Given the description of an element on the screen output the (x, y) to click on. 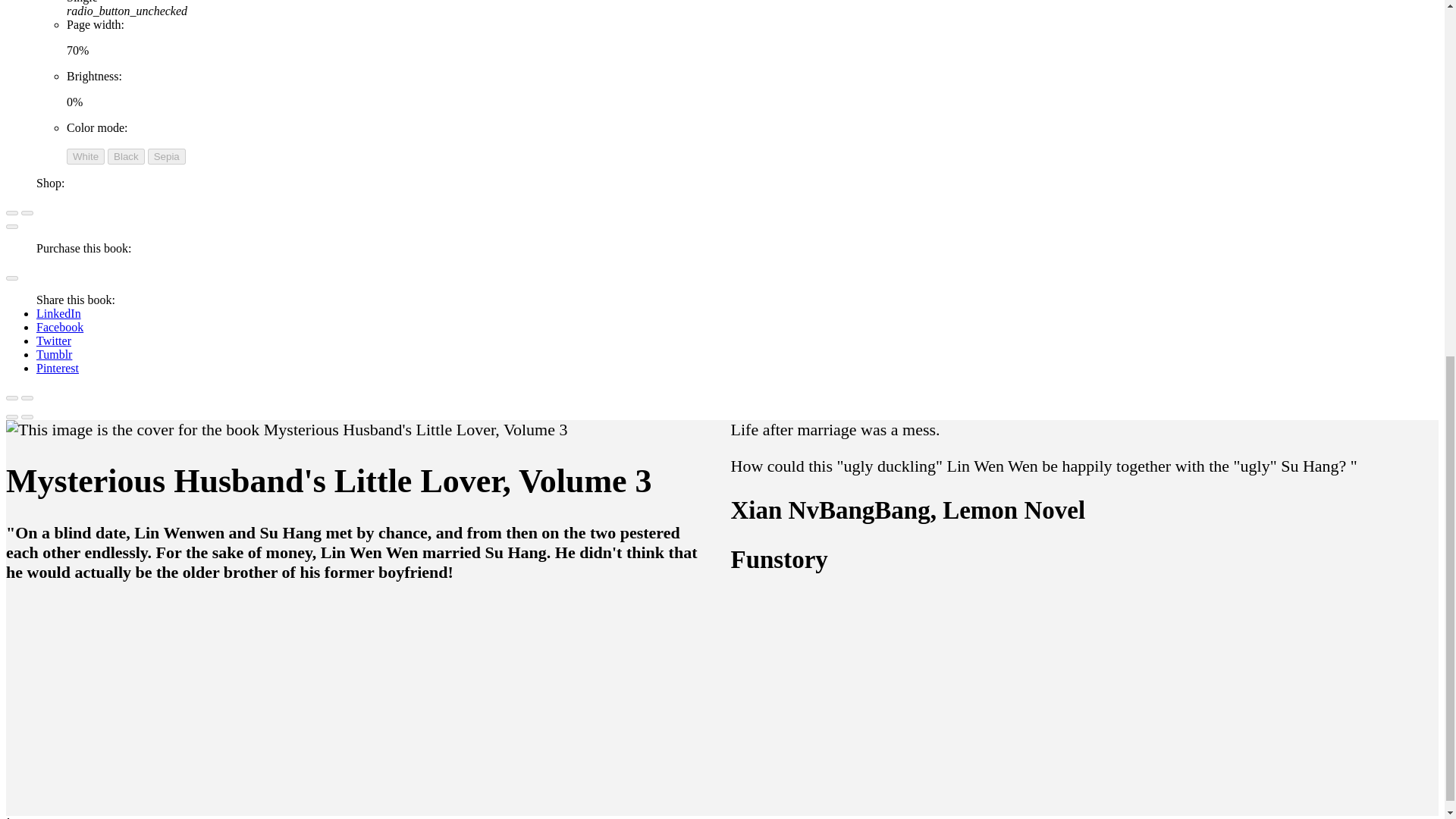
Black (125, 156)
White (85, 156)
Sepia (167, 156)
